Given the description of an element on the screen output the (x, y) to click on. 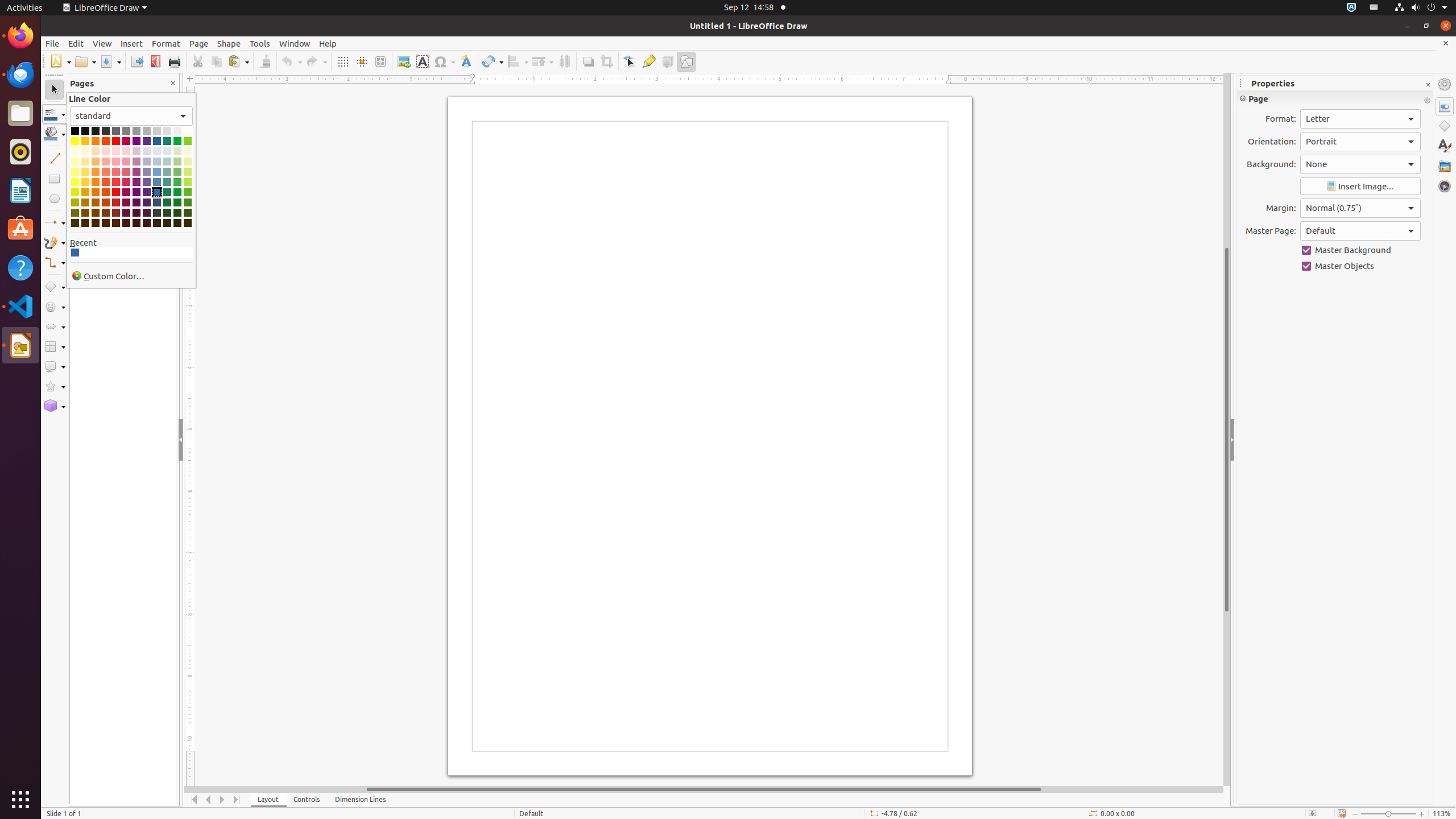
Purple Element type: list-item (136, 140)
Dark Purple 3 Element type: list-item (136, 212)
Green Element type: list-item (177, 140)
Horizontal Ruler Element type: ruler (703, 79)
Transformations Element type: push-button (492, 61)
